Given the description of an element on the screen output the (x, y) to click on. 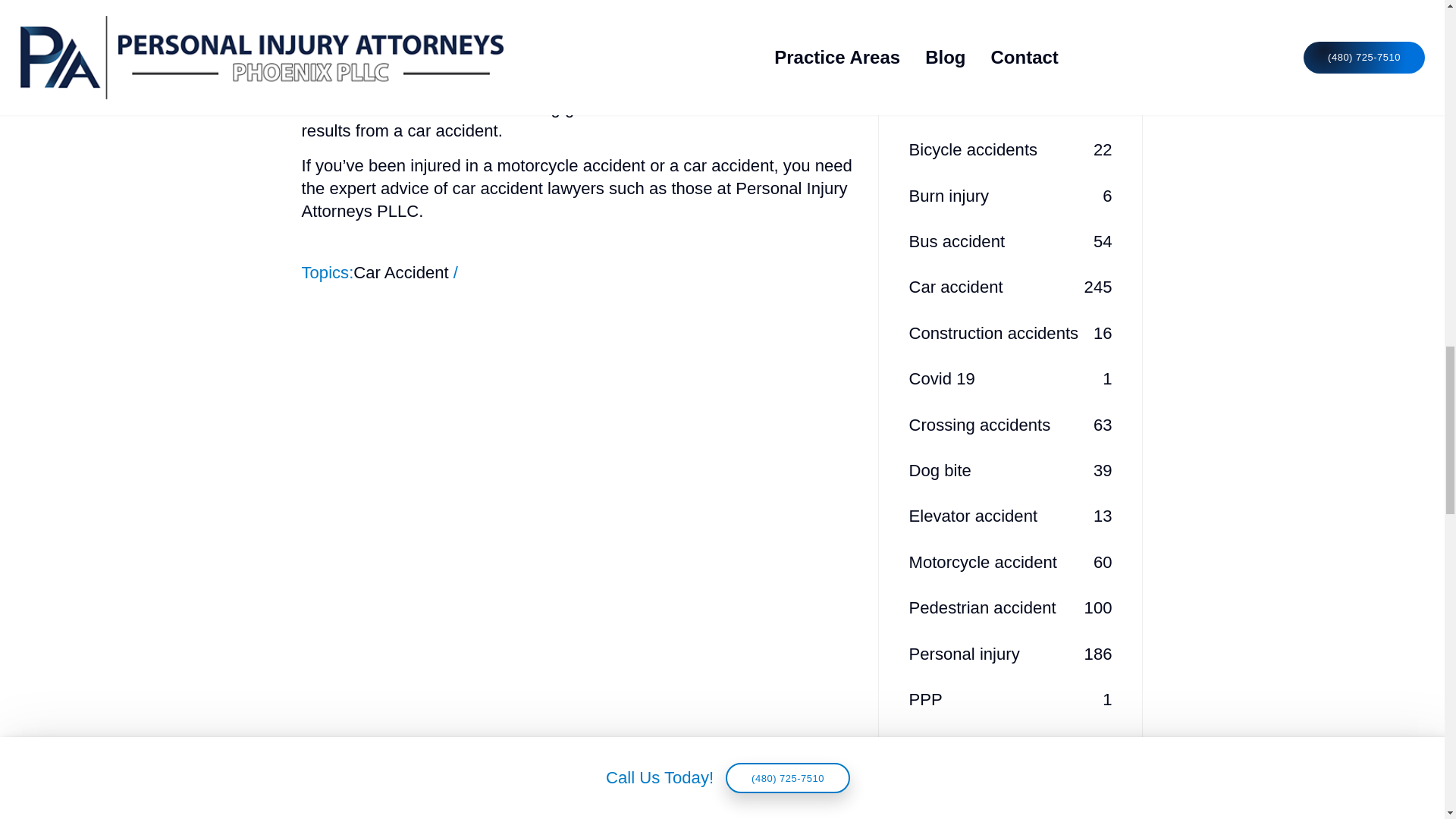
Car Accident (1010, 149)
involved in an accident (1010, 103)
